Given the description of an element on the screen output the (x, y) to click on. 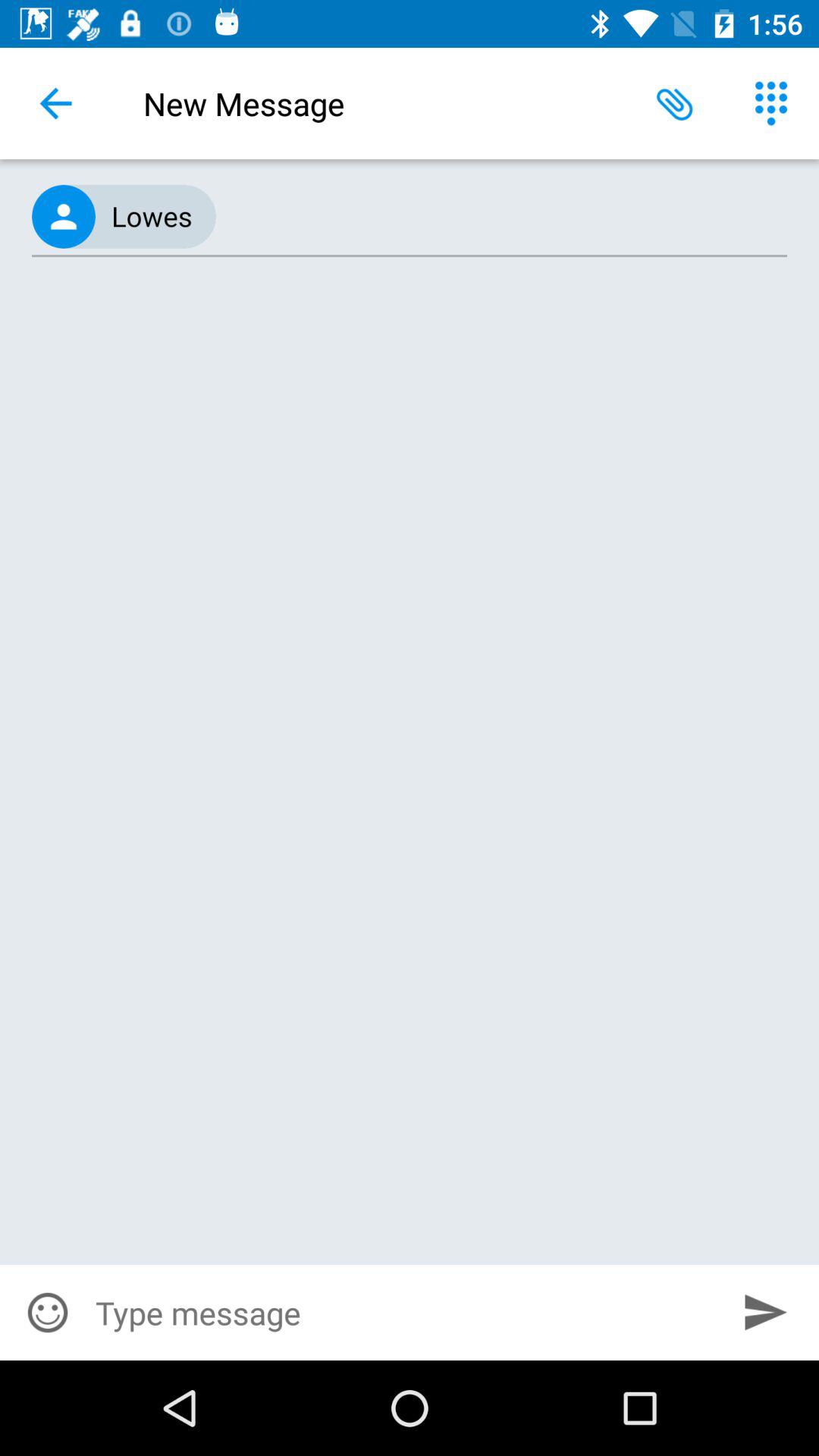
shows message type area (404, 1312)
